Given the description of an element on the screen output the (x, y) to click on. 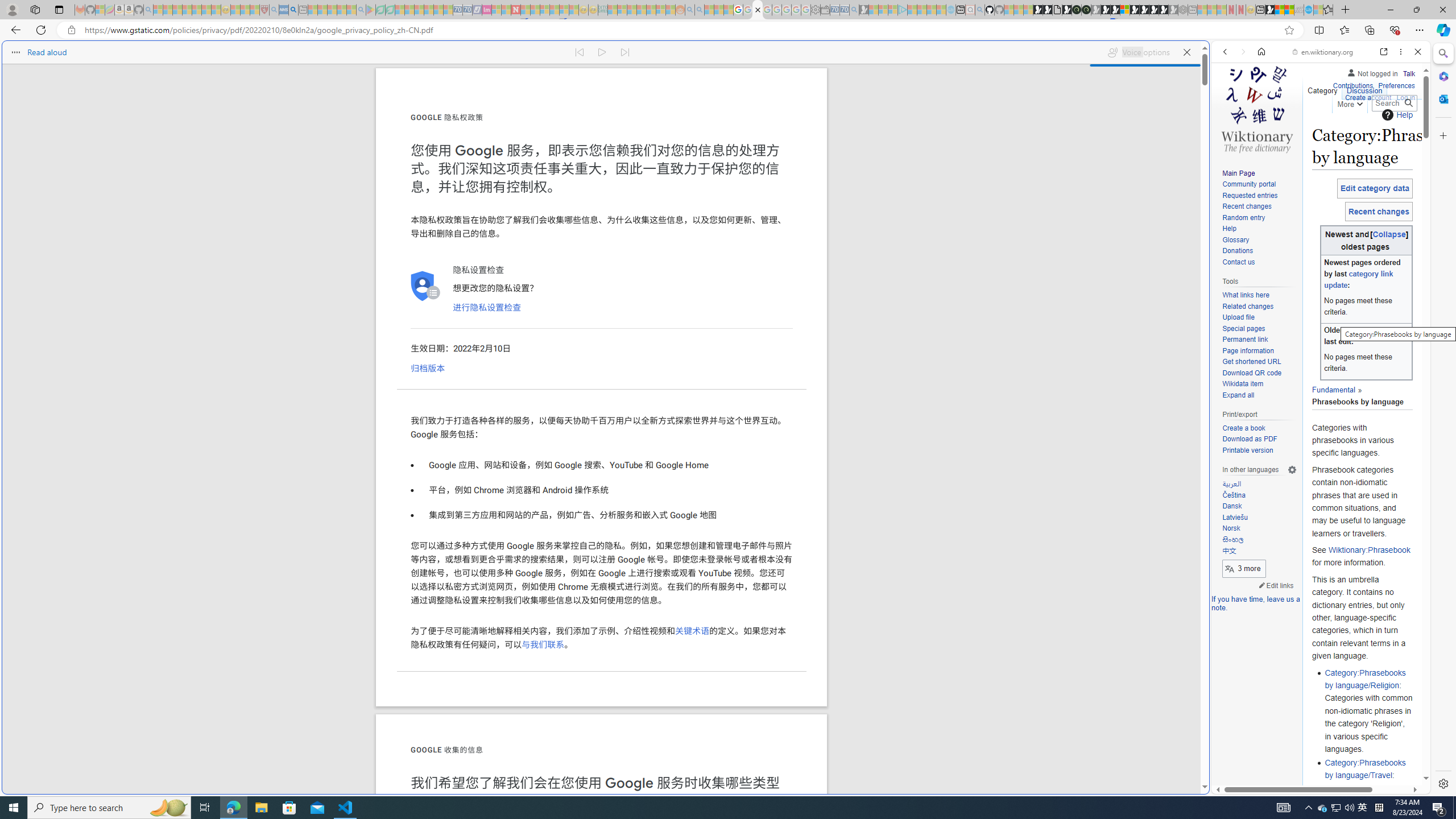
Future Focus Report 2024 (1085, 9)
Permanent link (1244, 339)
Expand all (1259, 395)
More (1349, 101)
Related changes (1247, 306)
Category (1322, 87)
Log in (1405, 96)
